Given the description of an element on the screen output the (x, y) to click on. 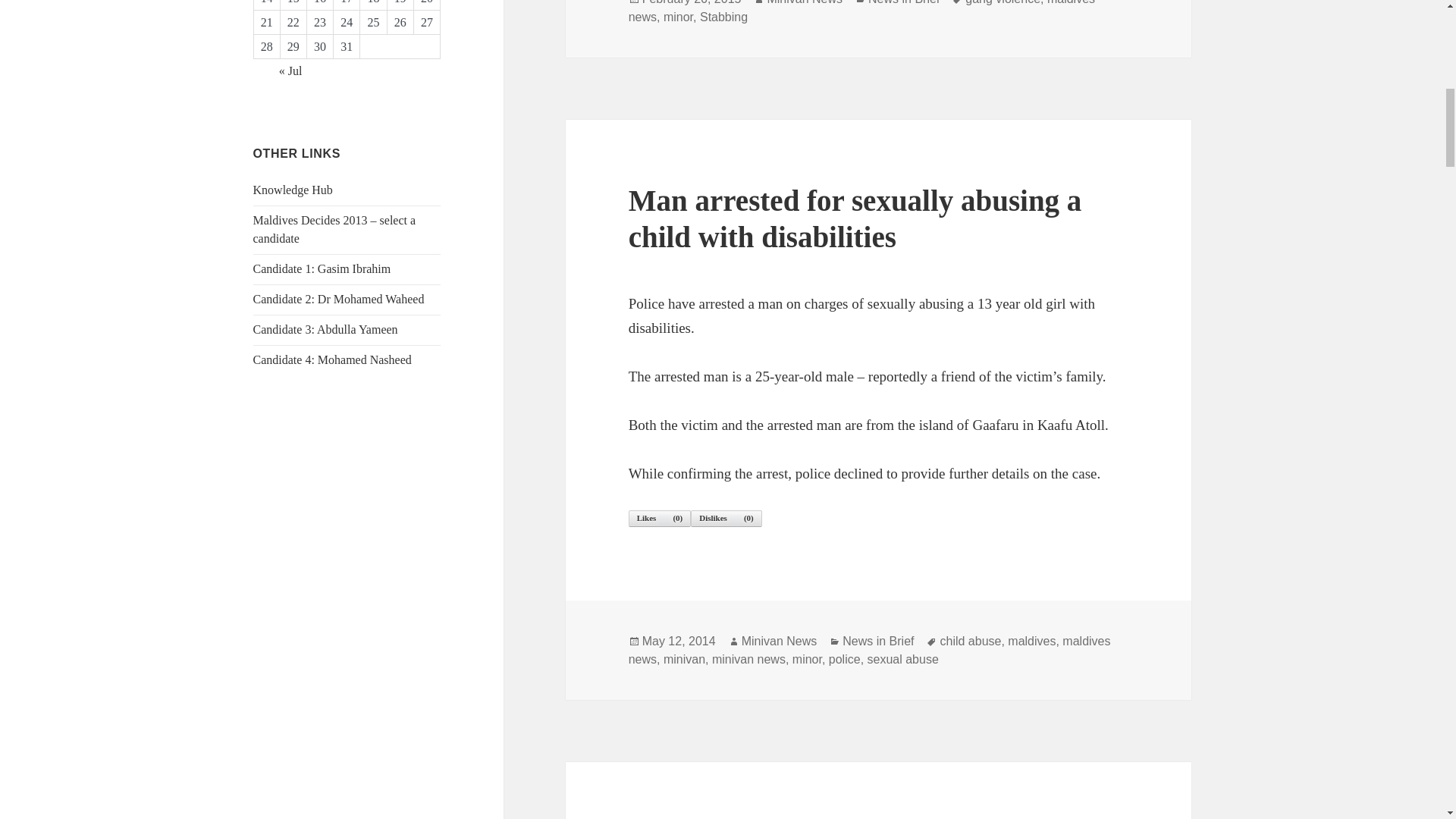
News in Brief (878, 641)
minor (678, 17)
Candidate 2: Dr Mohamed Waheed (339, 298)
maldives news (861, 12)
Minivan News (778, 641)
February 26, 2015 (691, 2)
Candidate 3: Abdulla Yameen (325, 328)
Minivan News (805, 2)
News in Brief (903, 2)
minor (807, 659)
Man arrested for sexually abusing a child with disabilities (854, 218)
maldives news (869, 650)
Candidate 1: Gasim Ibrahim (322, 268)
minivan news (748, 659)
police (844, 659)
